Given the description of an element on the screen output the (x, y) to click on. 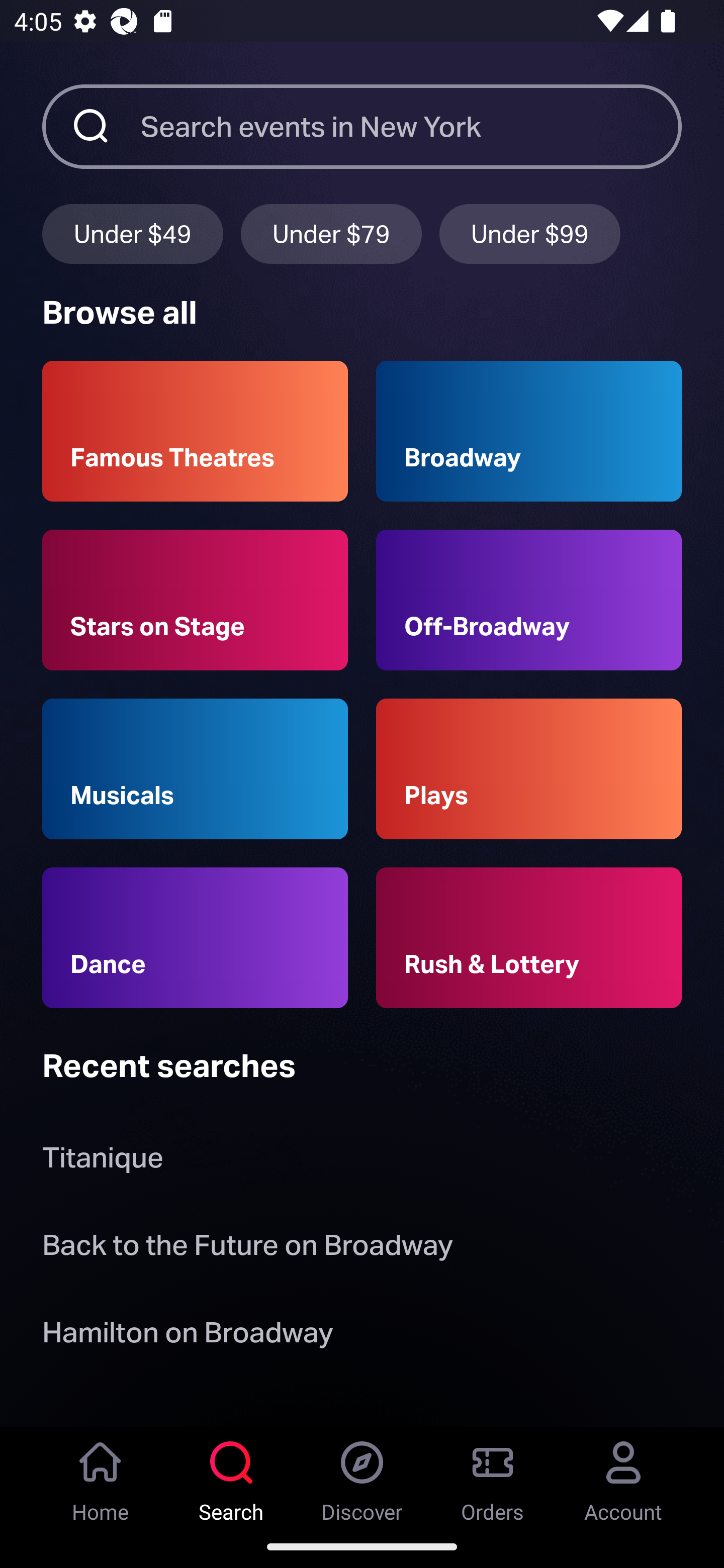
Search events in New York (411, 126)
Under $49 (131, 233)
Under $79 (331, 233)
Under $99 (529, 233)
Famous Theatres (194, 430)
Broadway (528, 430)
Stars on Stage (194, 600)
Off-Broadway (528, 600)
Musicals (194, 768)
Plays (528, 768)
Dance (194, 937)
Rush & Lottery (528, 937)
Titanique (102, 1161)
Back to the Future on Broadway (247, 1248)
Hamilton on Broadway (187, 1335)
Home (100, 1475)
Discover (361, 1475)
Orders (492, 1475)
Account (623, 1475)
